Given the description of an element on the screen output the (x, y) to click on. 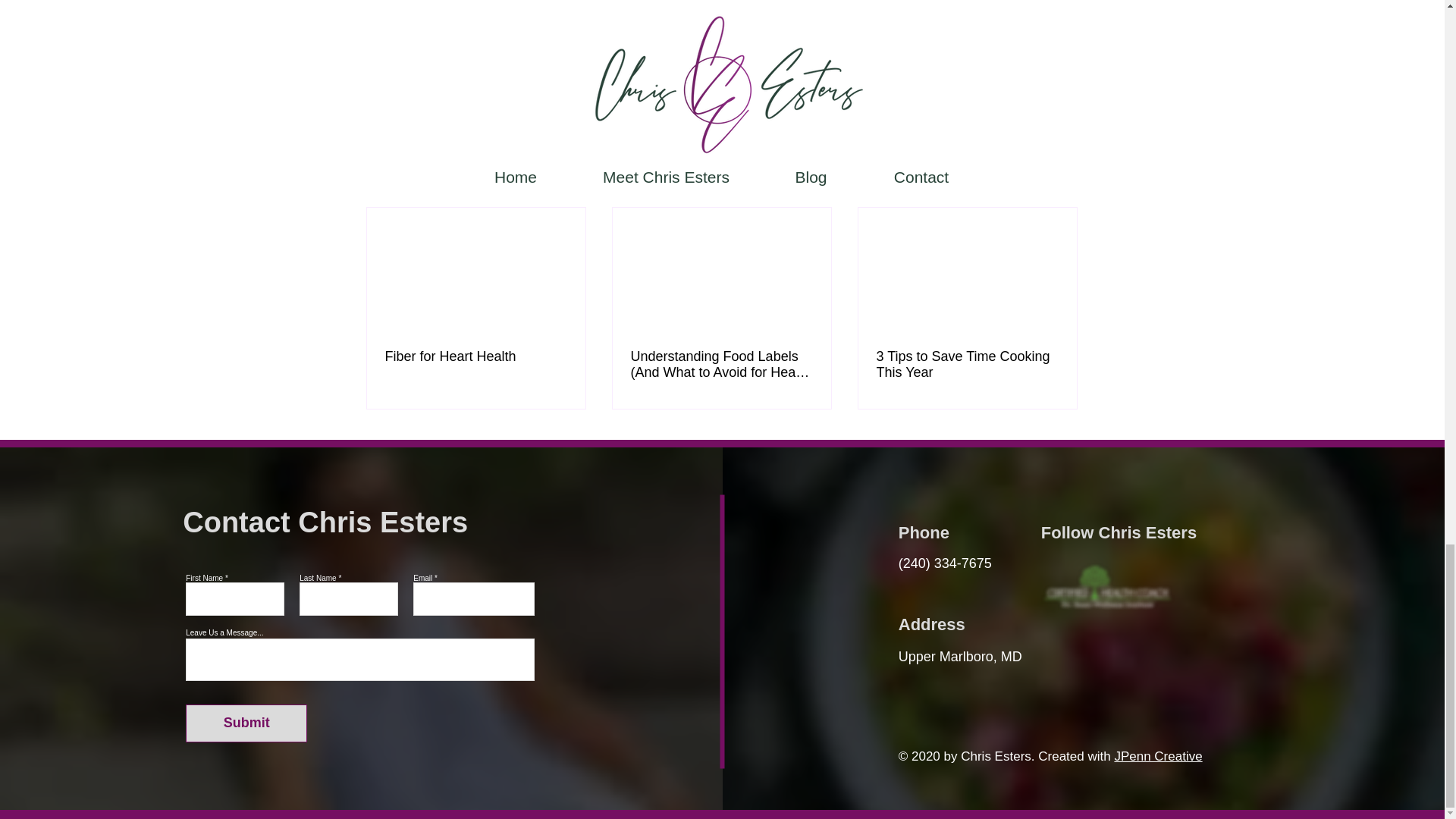
See All (1061, 180)
3 Tips to Save Time Cooking This Year (967, 364)
Fiber for Heart Health (476, 356)
Submit (246, 723)
JPenn Creative (1157, 756)
Healthy Eating (968, 82)
